Given the description of an element on the screen output the (x, y) to click on. 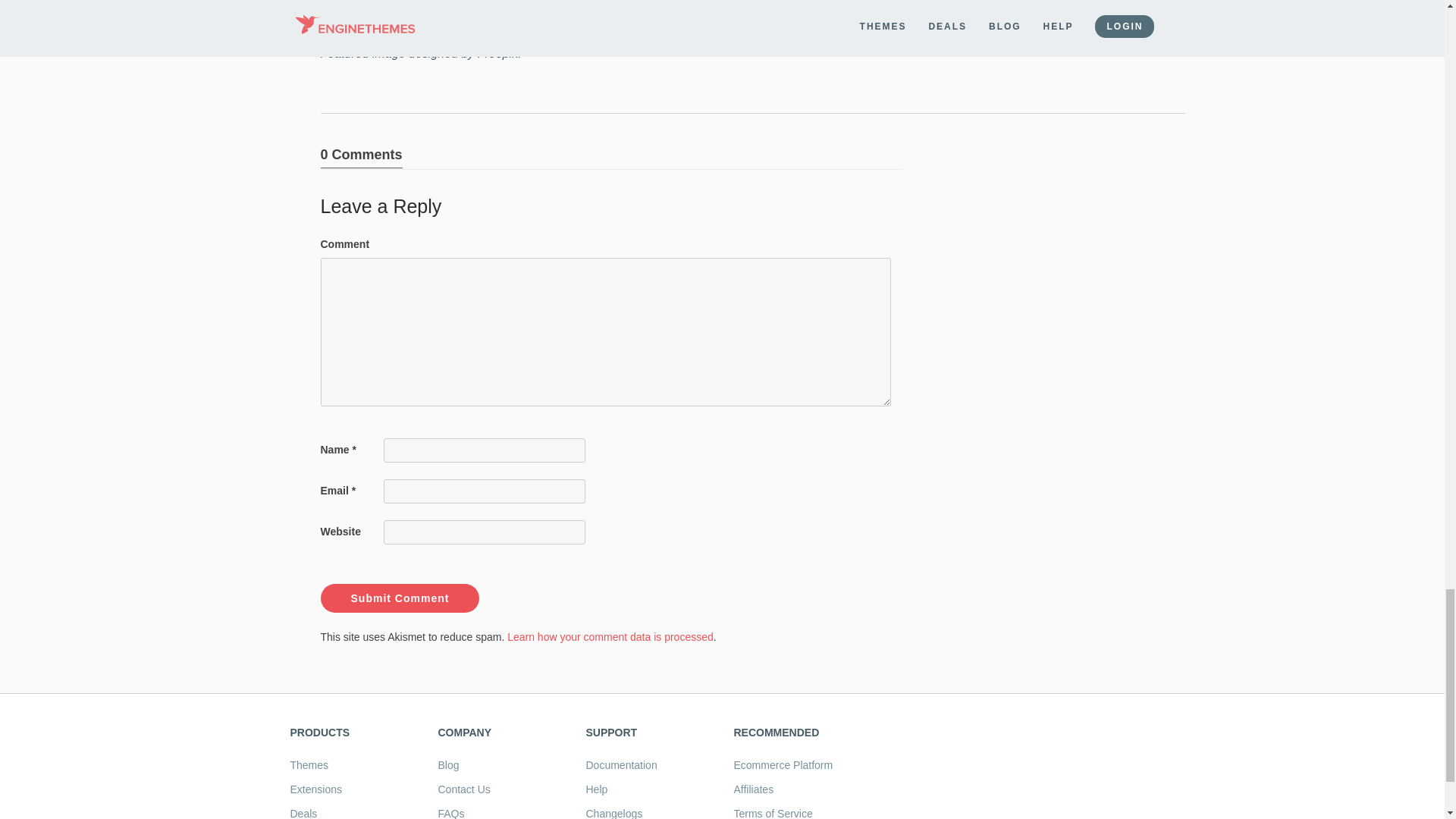
Terms of Service (772, 813)
FAQs (451, 813)
Themes (309, 765)
Ecommerce Platform (782, 765)
Extensions (314, 788)
Documentation (620, 765)
Blog (449, 765)
View All Themes (309, 765)
Help (596, 788)
Changelogs (613, 813)
Ecommerce Platform (782, 765)
Extensions (314, 788)
Submit Comment (399, 597)
Learn how your comment data is processed (609, 636)
Documentation (620, 765)
